Given the description of an element on the screen output the (x, y) to click on. 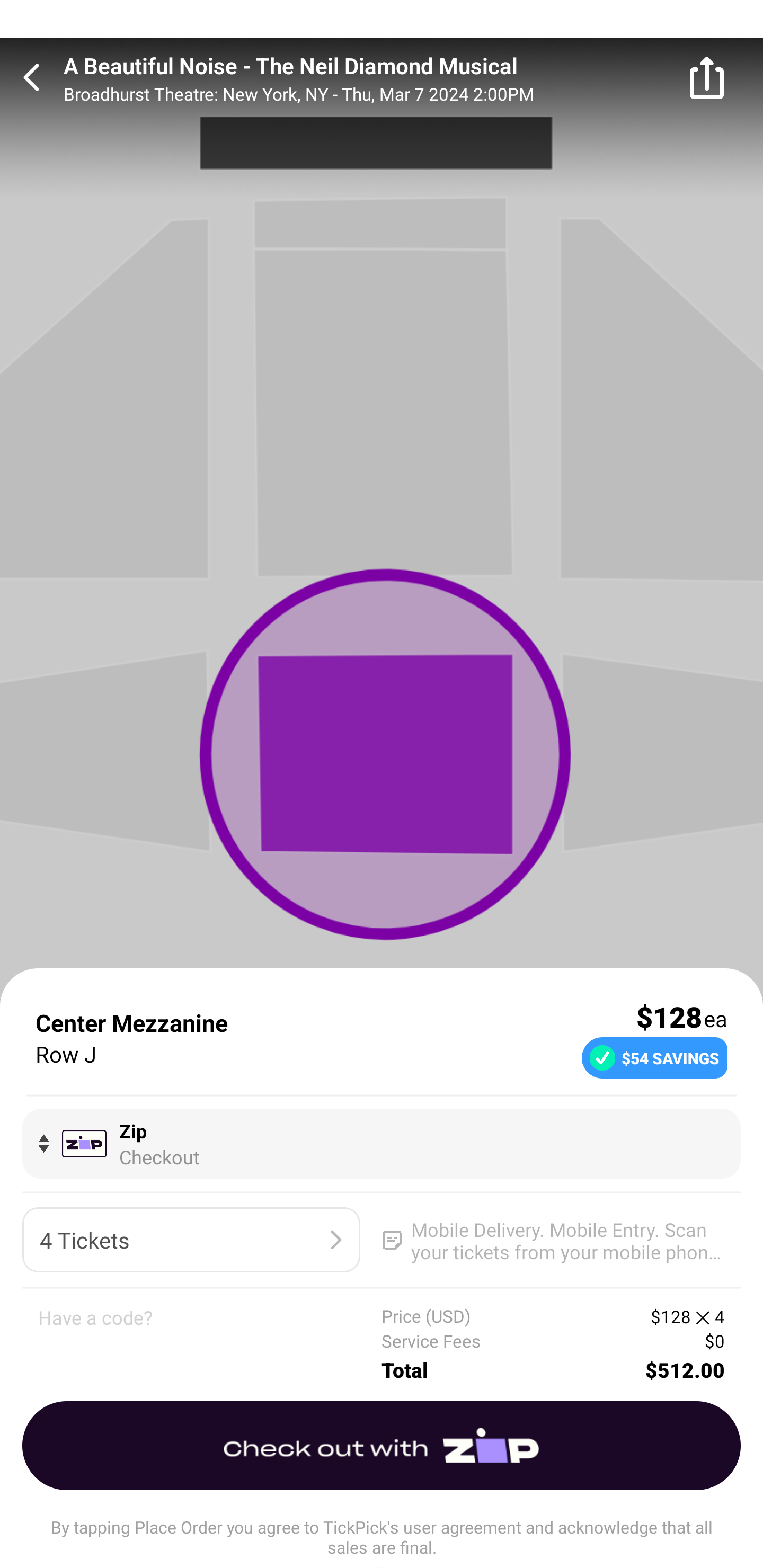
$54 SAVINGS (654, 1057)
Zip, Checkout Zip Checkout (381, 1143)
4 Tickets (191, 1239)
Have a code? (209, 1344)
